Given the description of an element on the screen output the (x, y) to click on. 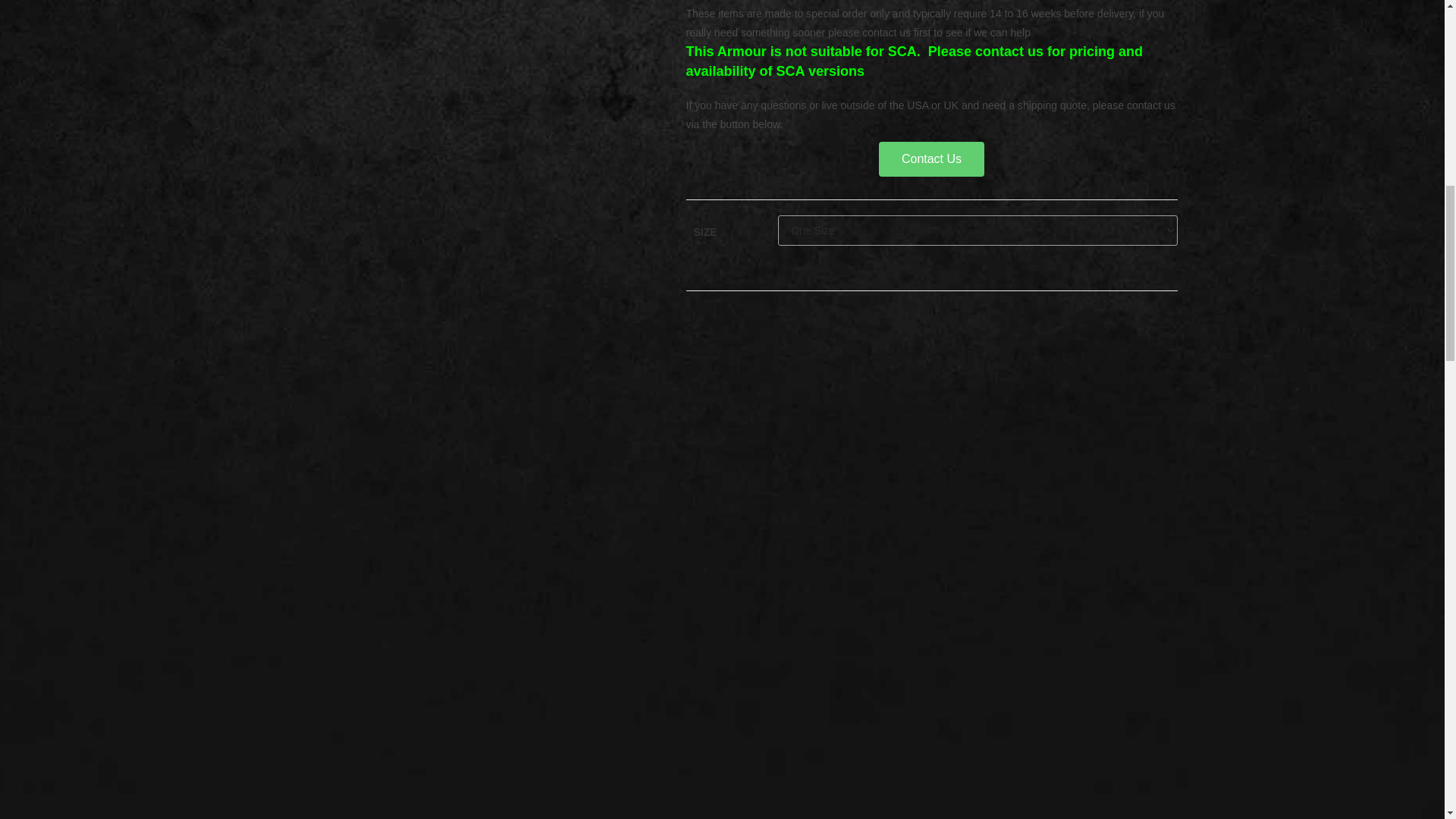
Contact Us (931, 158)
